Given the description of an element on the screen output the (x, y) to click on. 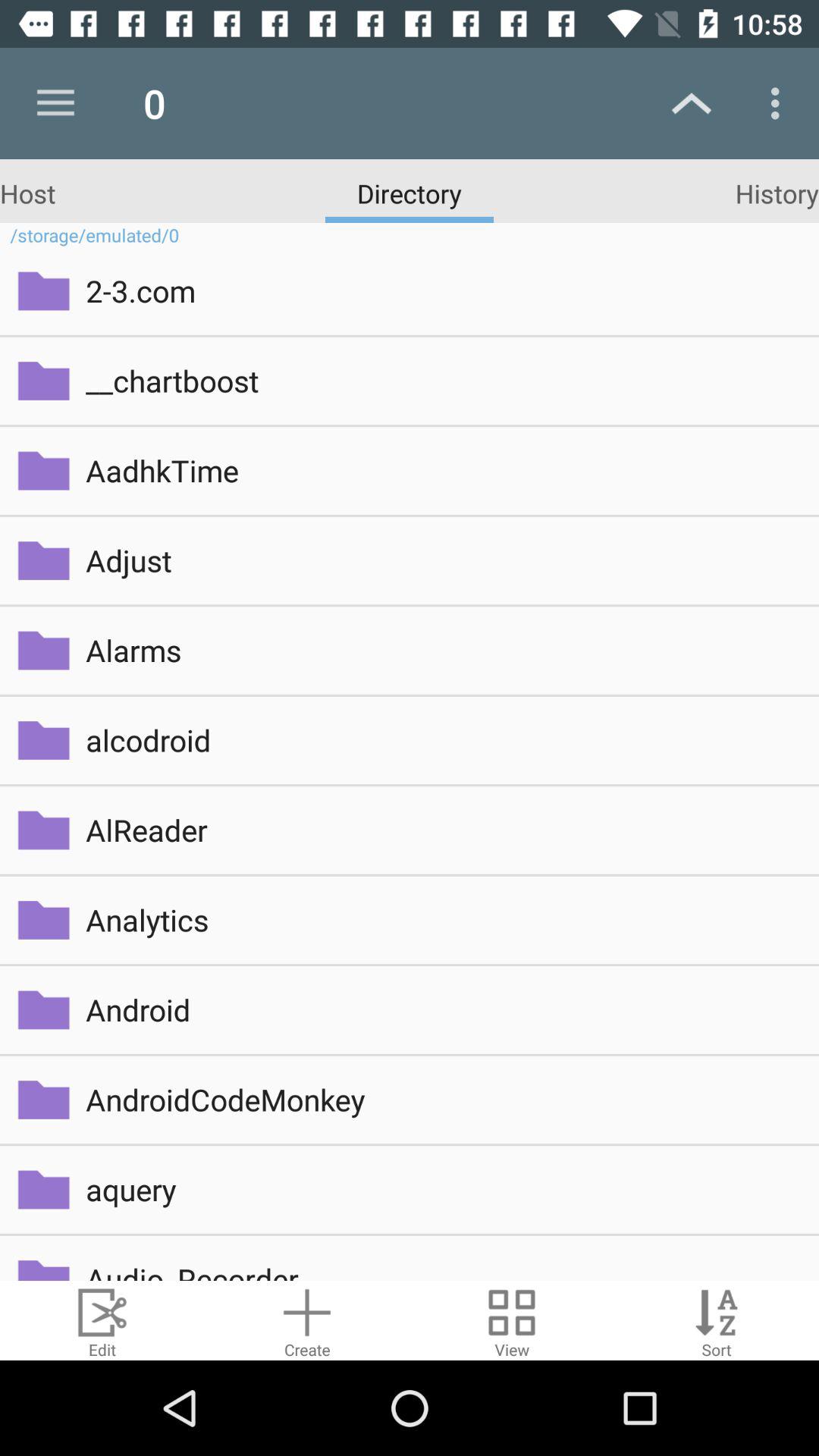
swipe until the audio_recorder icon (441, 1269)
